Given the description of an element on the screen output the (x, y) to click on. 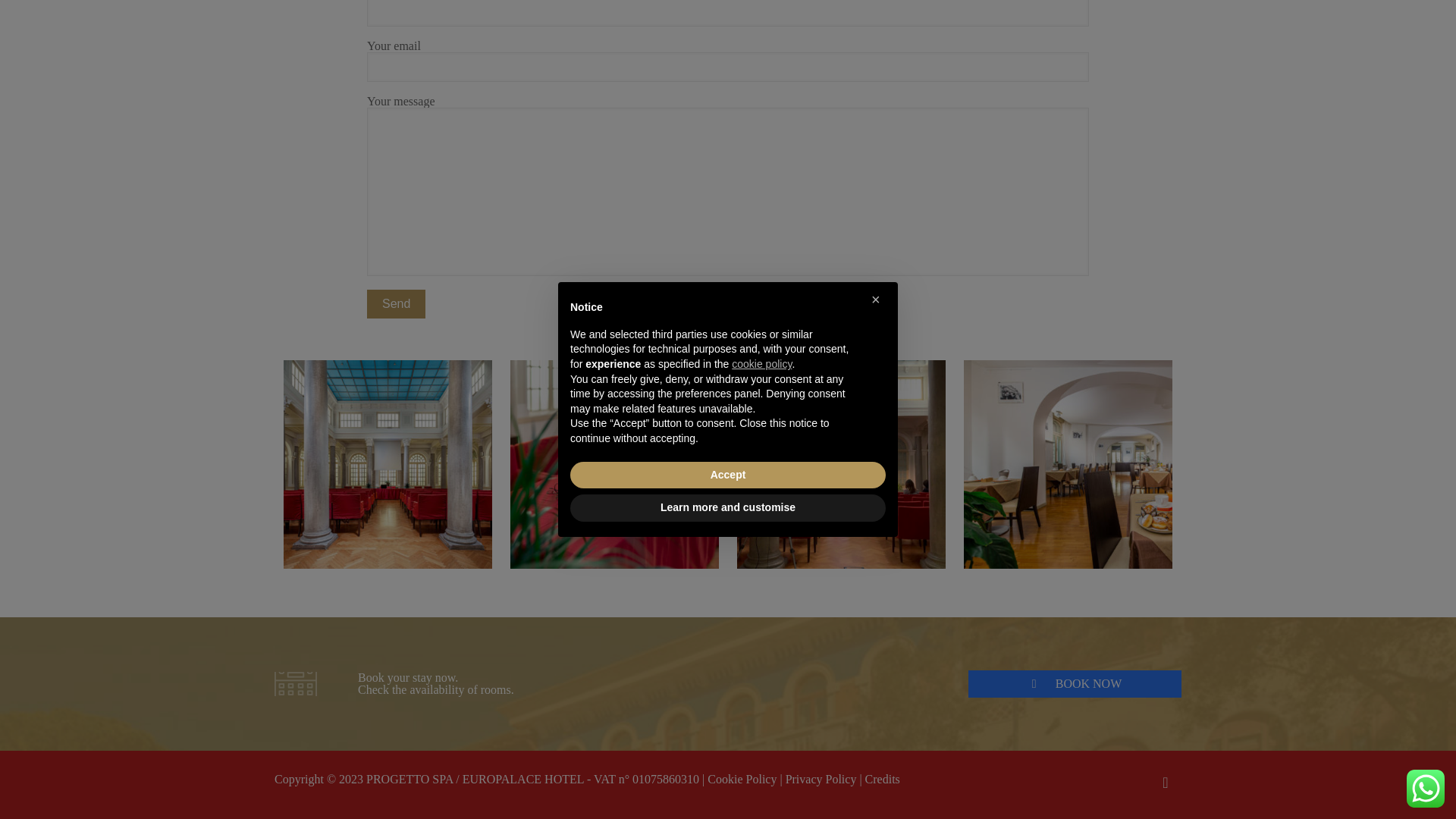
Send (395, 303)
